Given the description of an element on the screen output the (x, y) to click on. 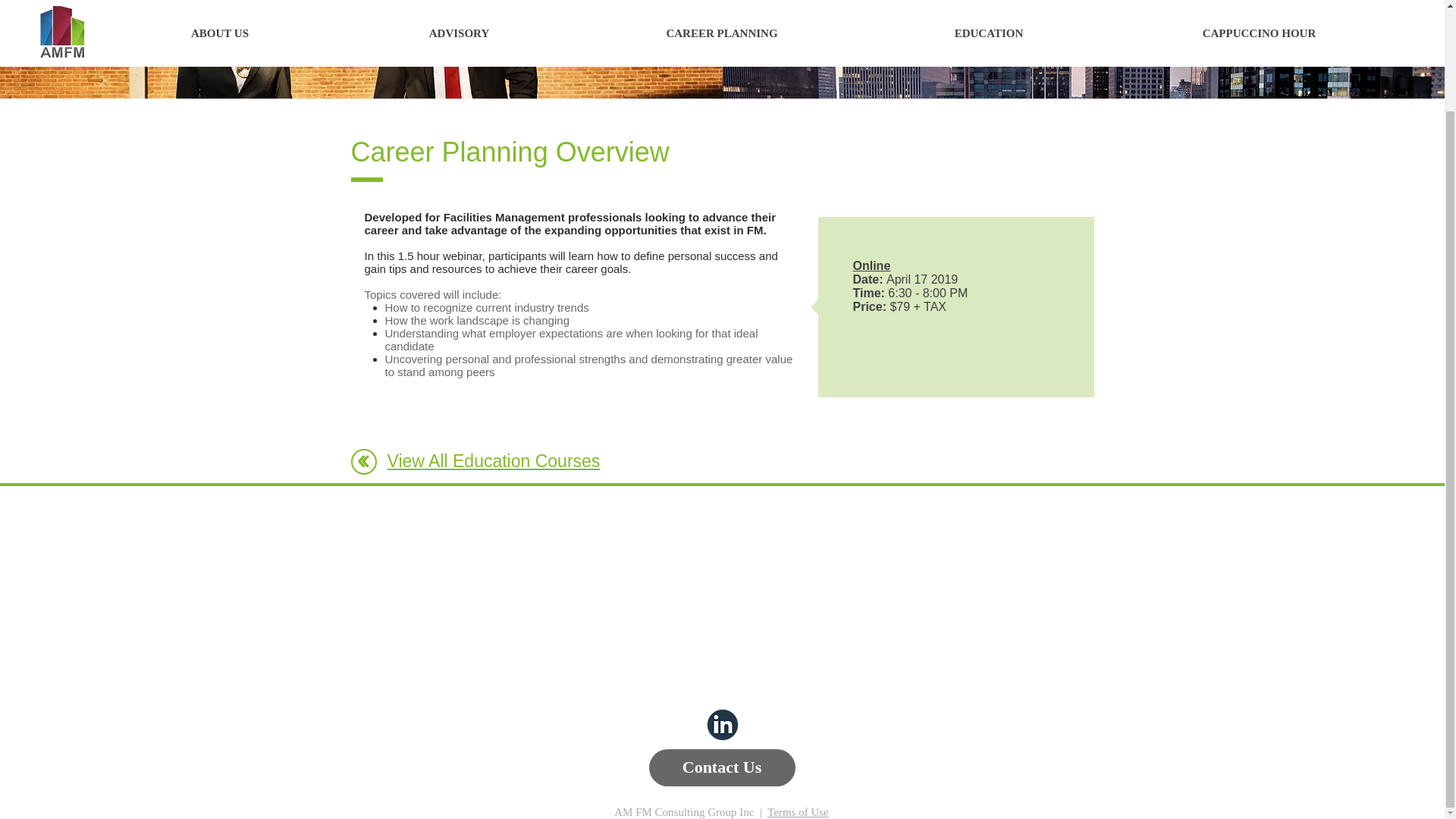
Embedded Content (952, 339)
Terms of Use (797, 811)
Contact Us (721, 767)
View All Education Courses (493, 460)
